Given the description of an element on the screen output the (x, y) to click on. 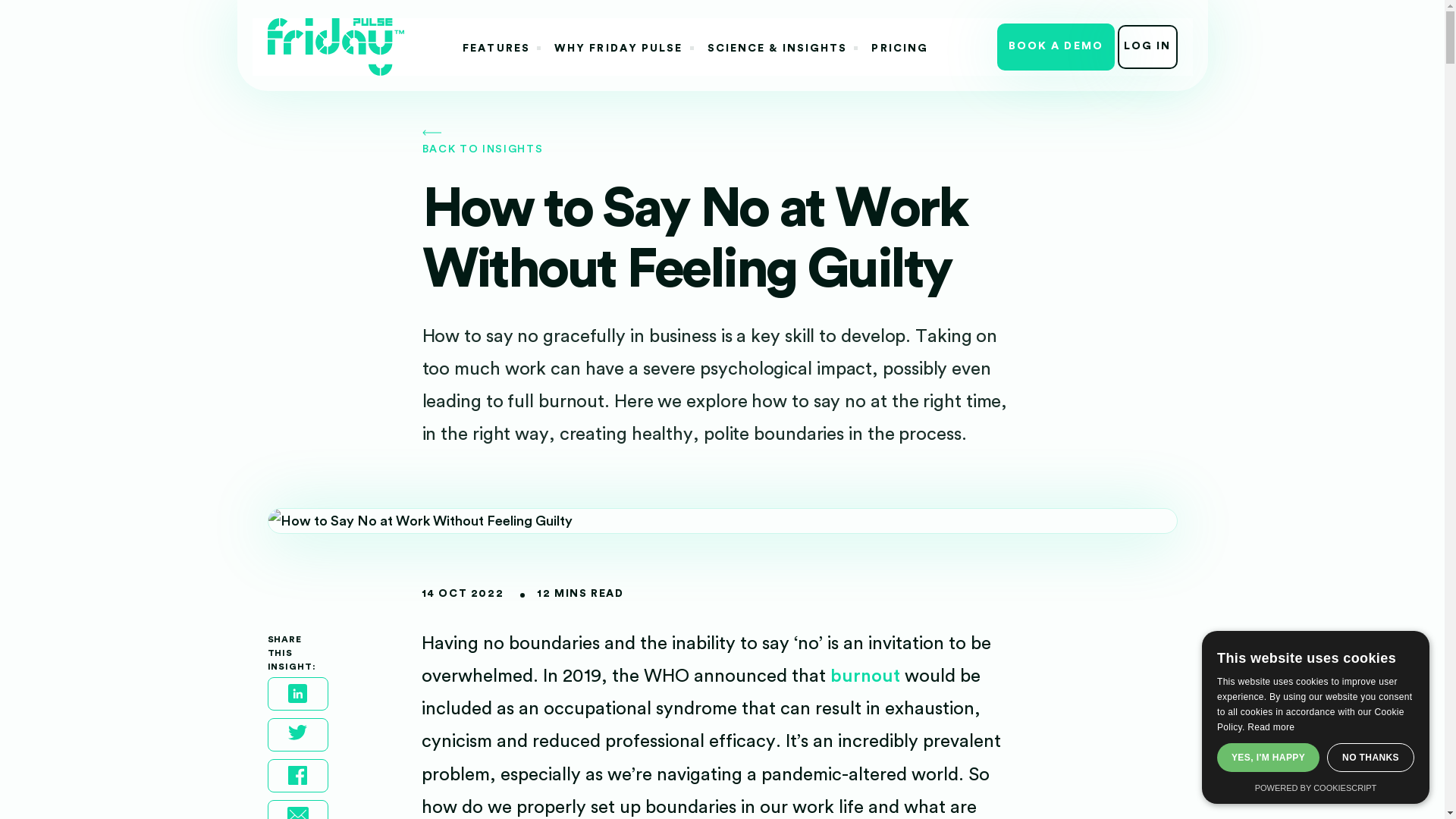
Back to all insights (722, 141)
Book a demo (1056, 46)
Share on Facebook (296, 775)
burnout (864, 676)
Why Friday Pulse (618, 48)
PRICING (899, 48)
LOG IN (1147, 46)
BACK TO INSIGHTS (722, 141)
Features (496, 48)
Access your account (1147, 46)
